Given the description of an element on the screen output the (x, y) to click on. 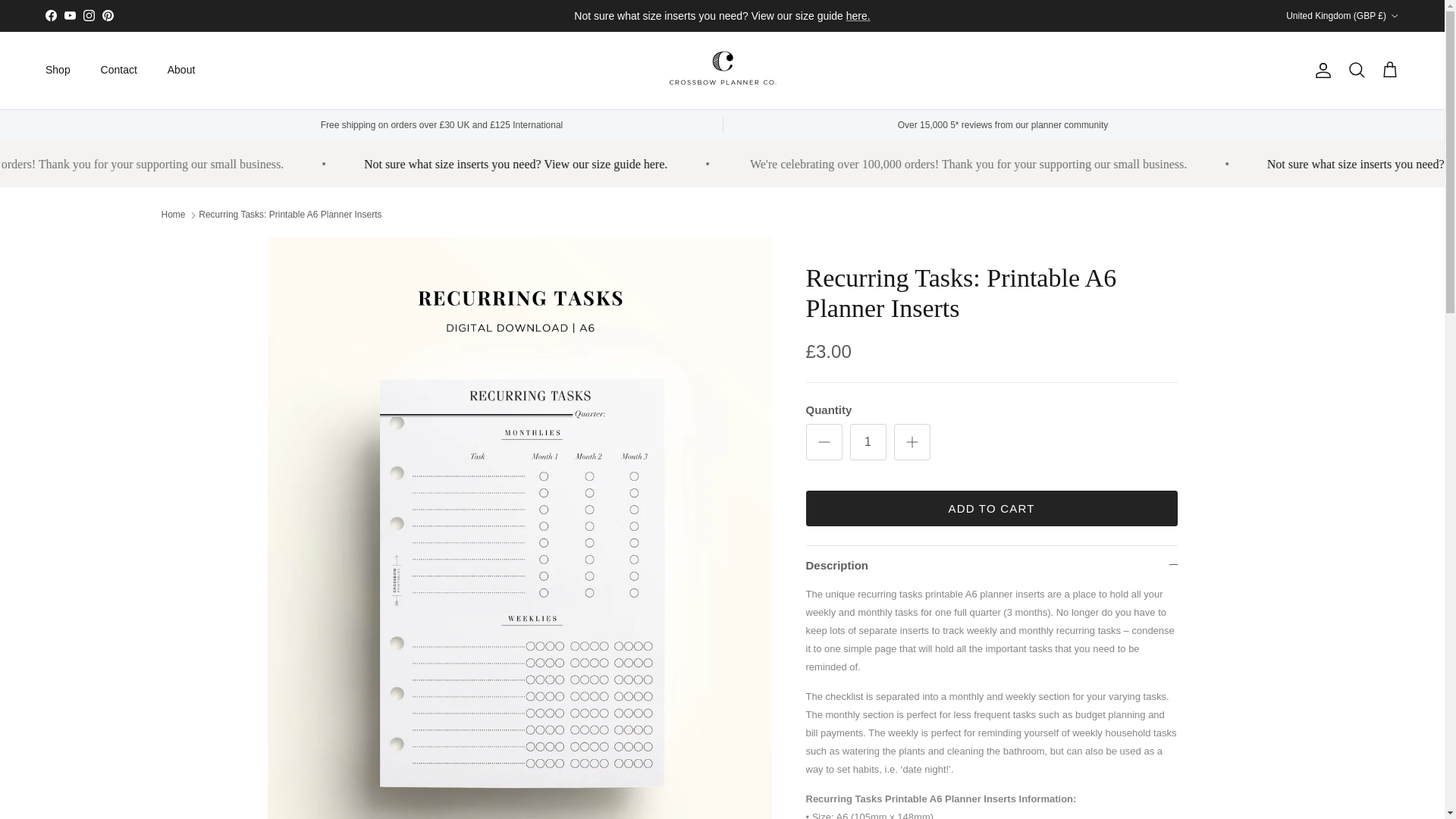
YouTube (69, 15)
Contact (119, 70)
Crossbow Planner Co. (721, 70)
here. (857, 15)
Instagram (88, 15)
Facebook (50, 15)
Crossbow Planner Co. on Facebook (50, 15)
Search (1356, 70)
About (181, 70)
Shop (58, 70)
